Given the description of an element on the screen output the (x, y) to click on. 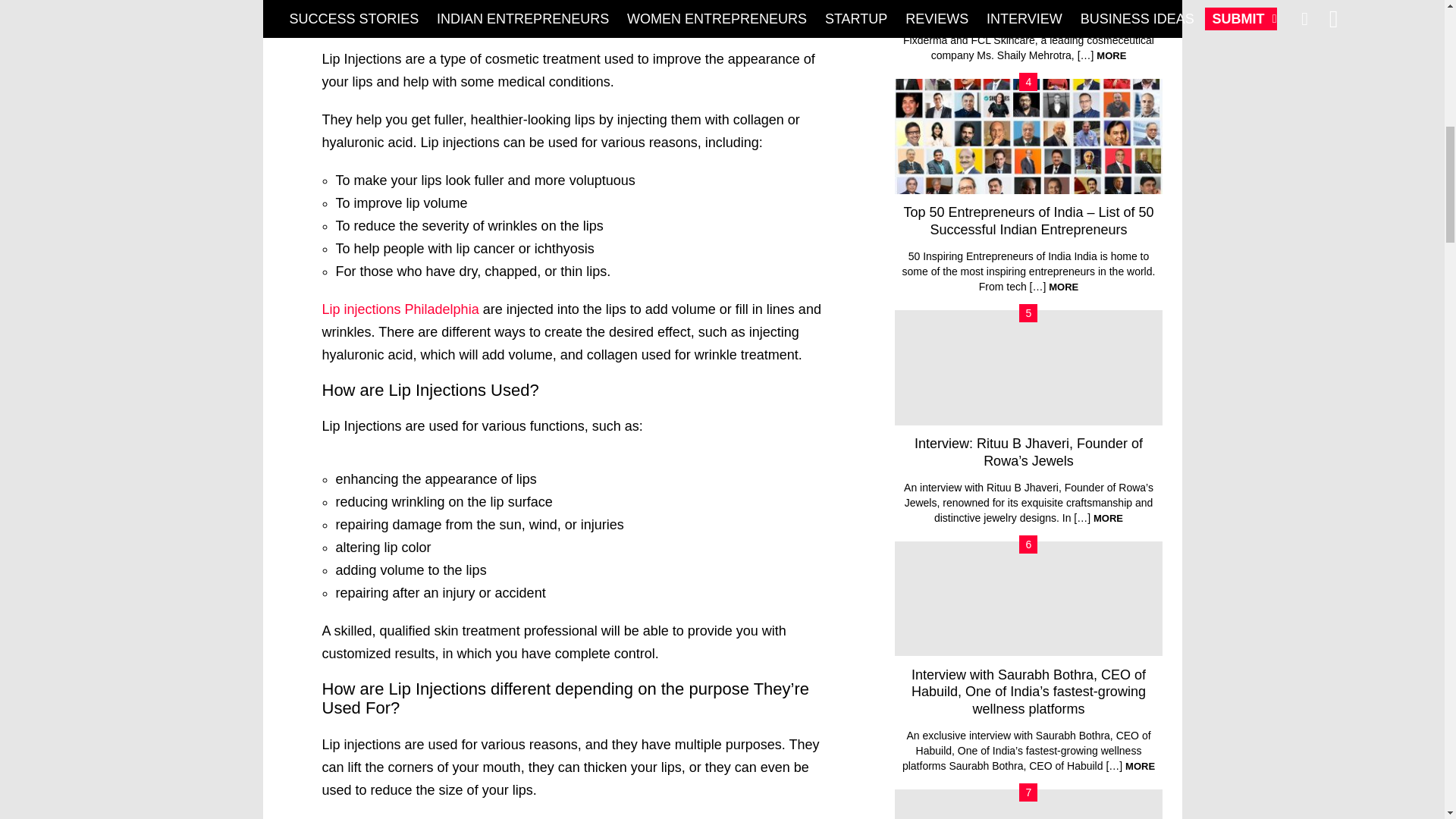
Lip injections Philadelphia (400, 309)
